Given the description of an element on the screen output the (x, y) to click on. 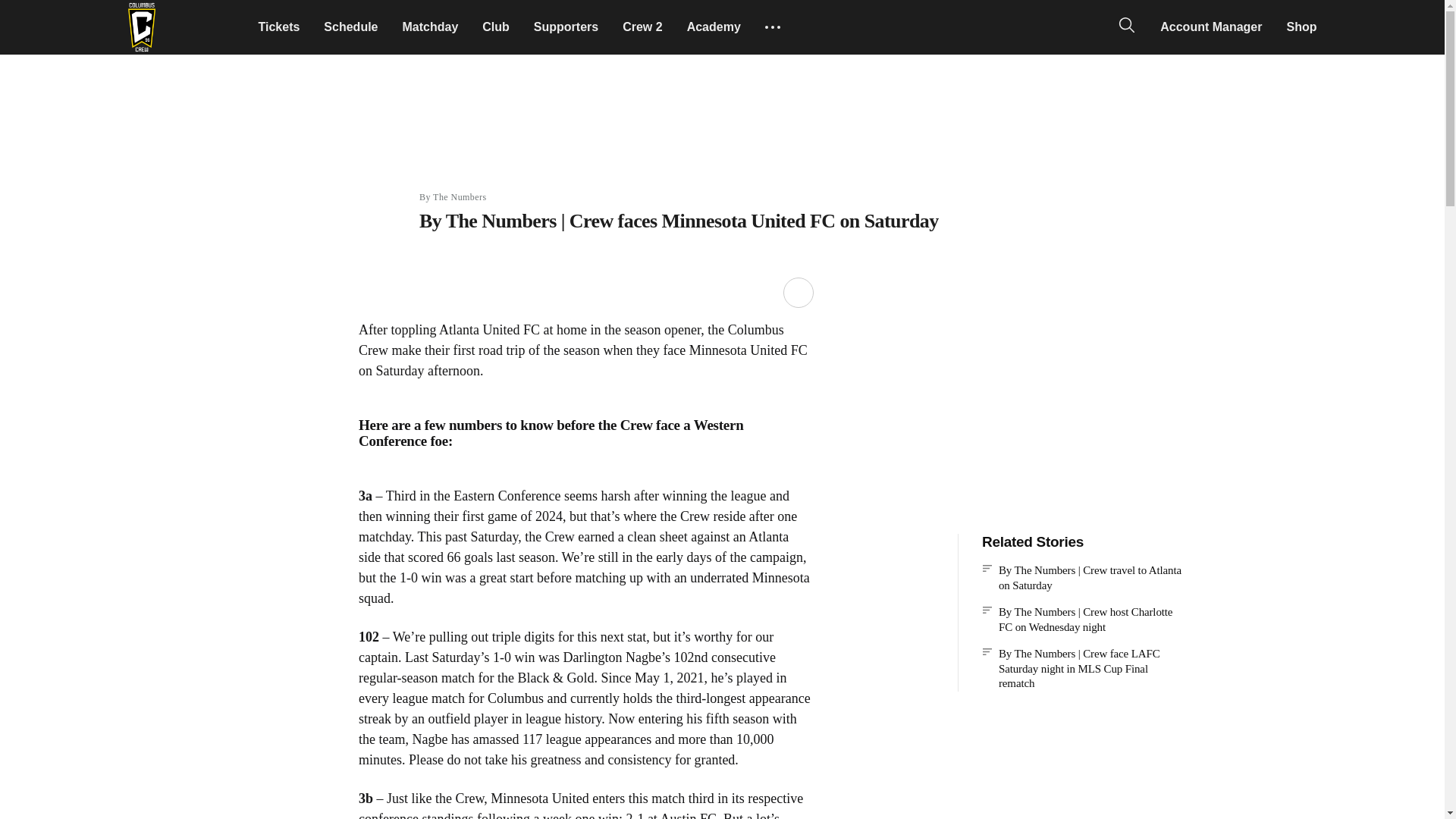
Tickets (278, 26)
Crew 2 (642, 26)
Shop (1300, 26)
Schedule (350, 26)
Academy (713, 26)
Account Manager (1211, 26)
Club (495, 26)
Matchday (430, 26)
Supporters (565, 26)
Columbus Crew (141, 27)
